Given the description of an element on the screen output the (x, y) to click on. 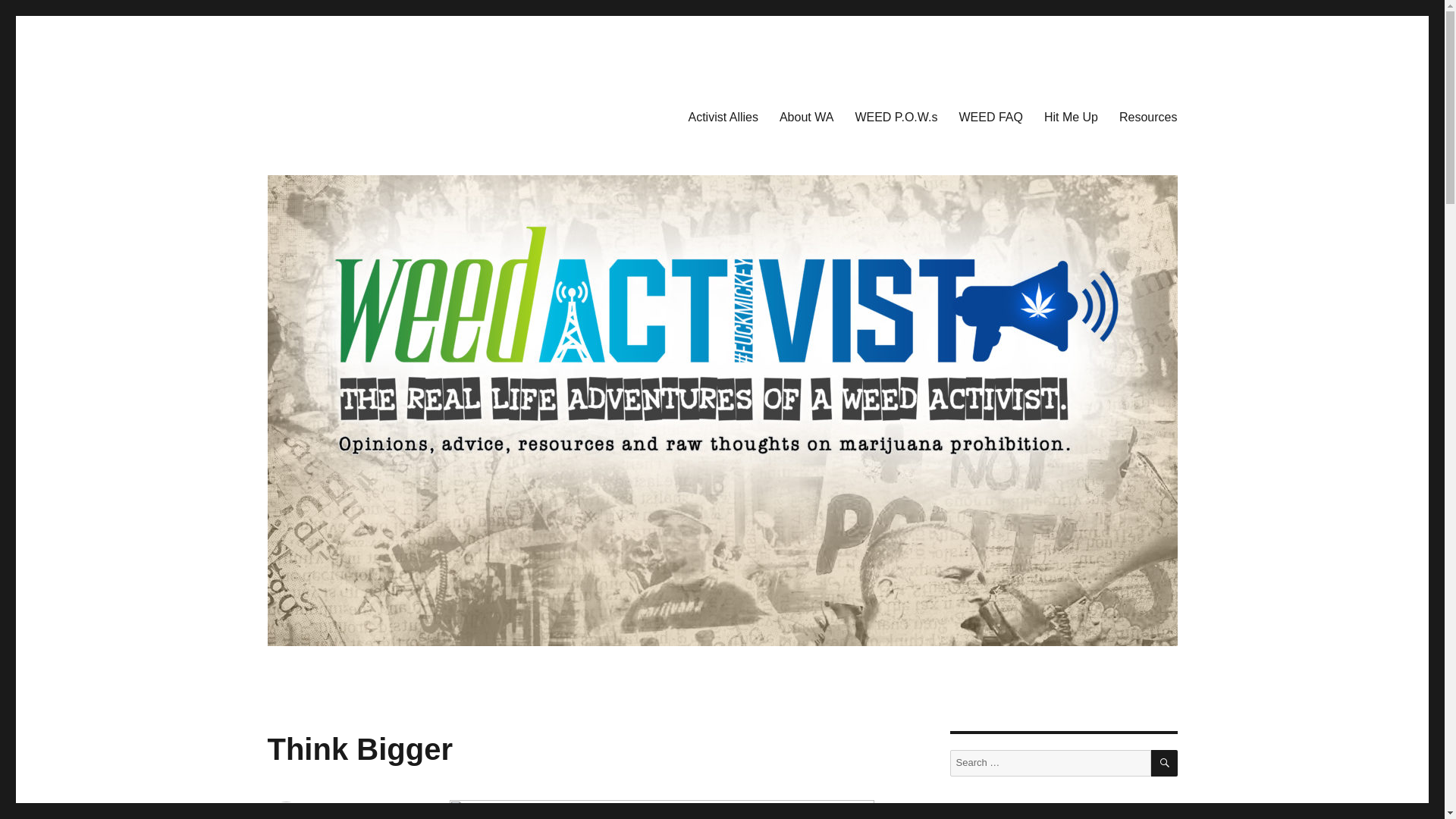
bigger.1 (660, 809)
WEED P.O.W.s (895, 116)
Resources (1148, 116)
Hit Me Up (1070, 116)
Activist Allies (722, 116)
About WA (806, 116)
Weed Activist (335, 114)
WEED FAQ (989, 116)
SEARCH (1164, 763)
